Given the description of an element on the screen output the (x, y) to click on. 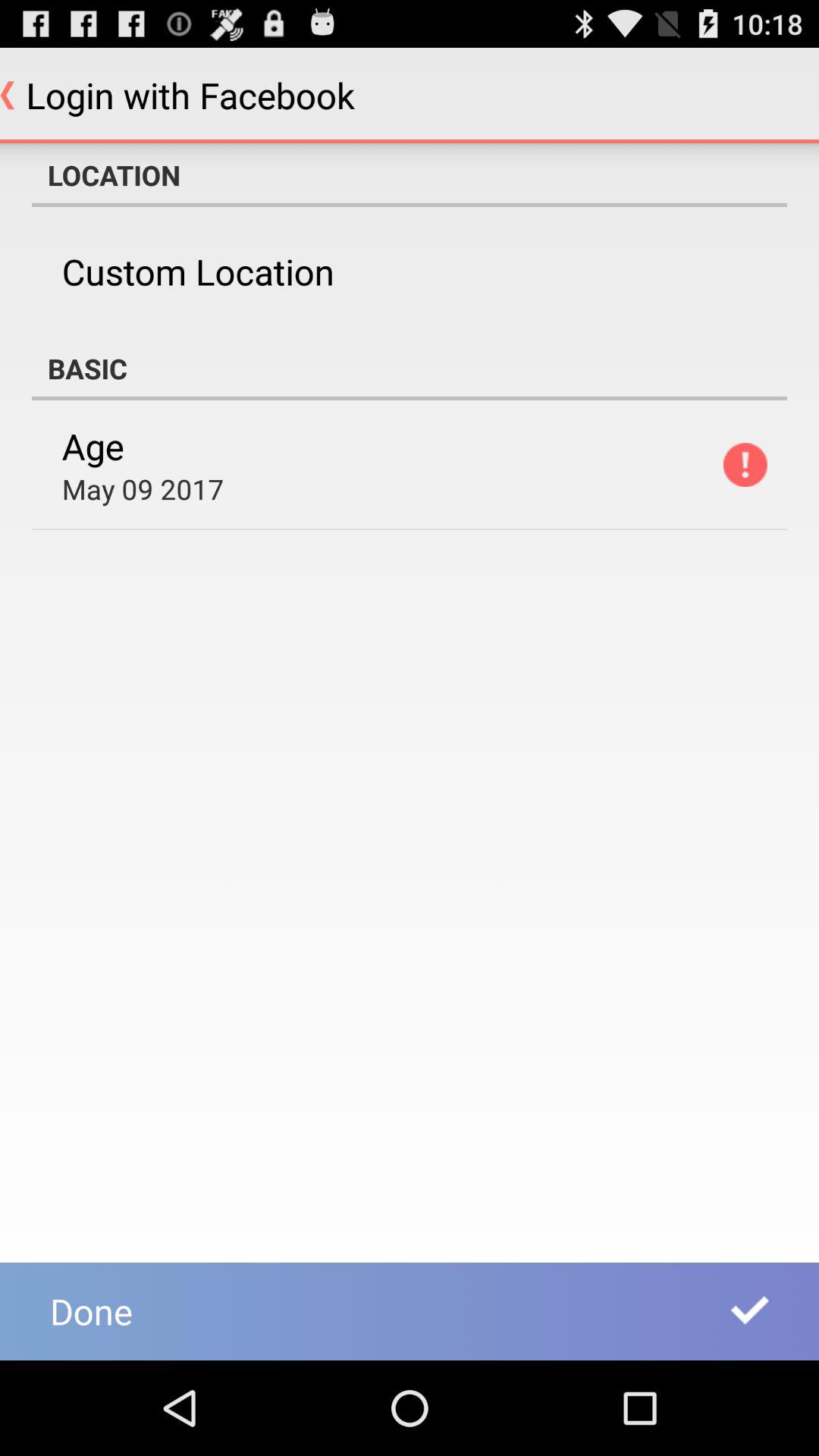
swipe until the age (92, 446)
